Given the description of an element on the screen output the (x, y) to click on. 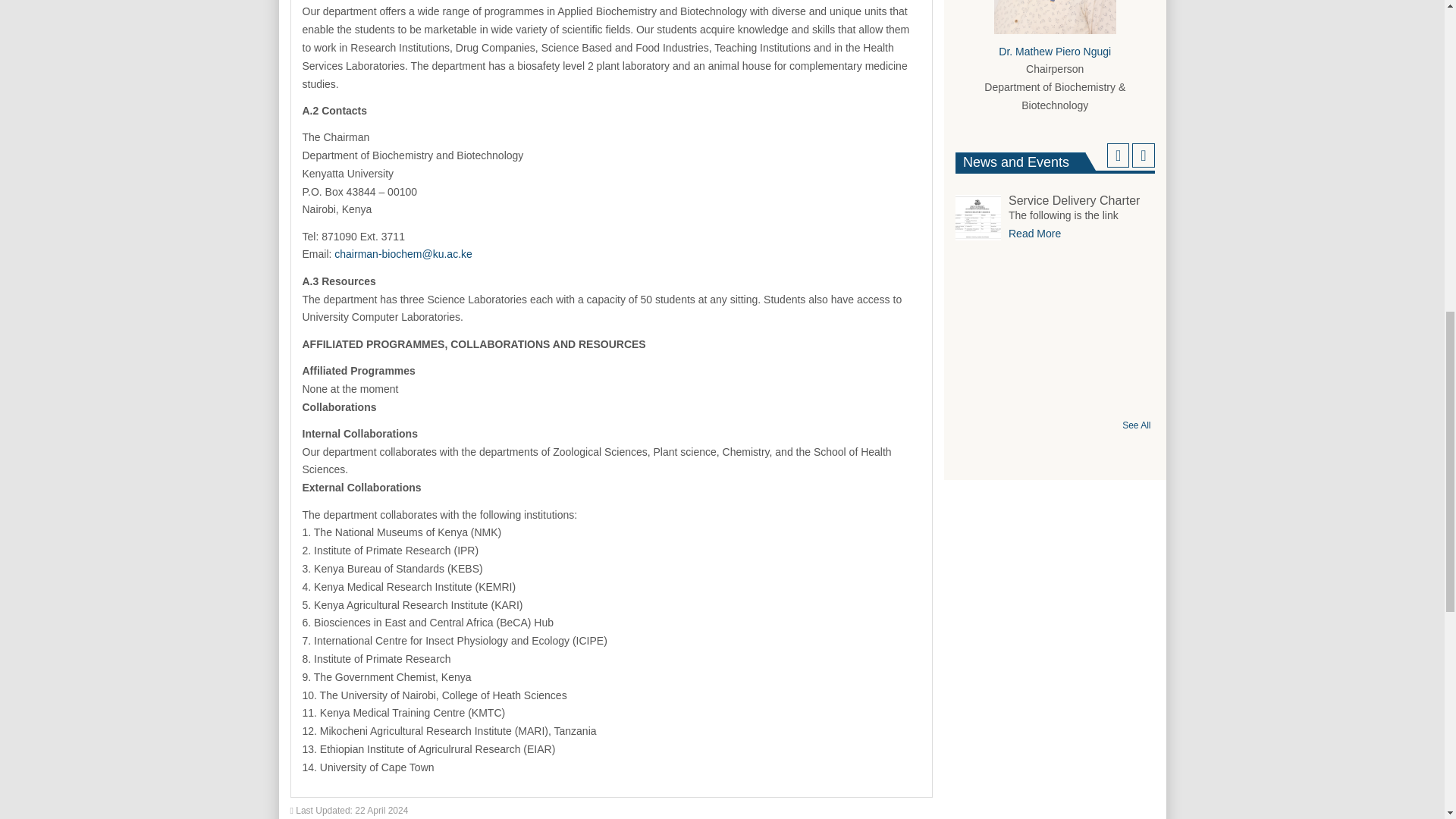
Service Delivery Charter Biochem  (1054, 200)
Service Delivery Charter Biochem  (978, 217)
Service Delivery Charter Biochem  (1035, 233)
Back to Top (1411, 30)
